Given the description of an element on the screen output the (x, y) to click on. 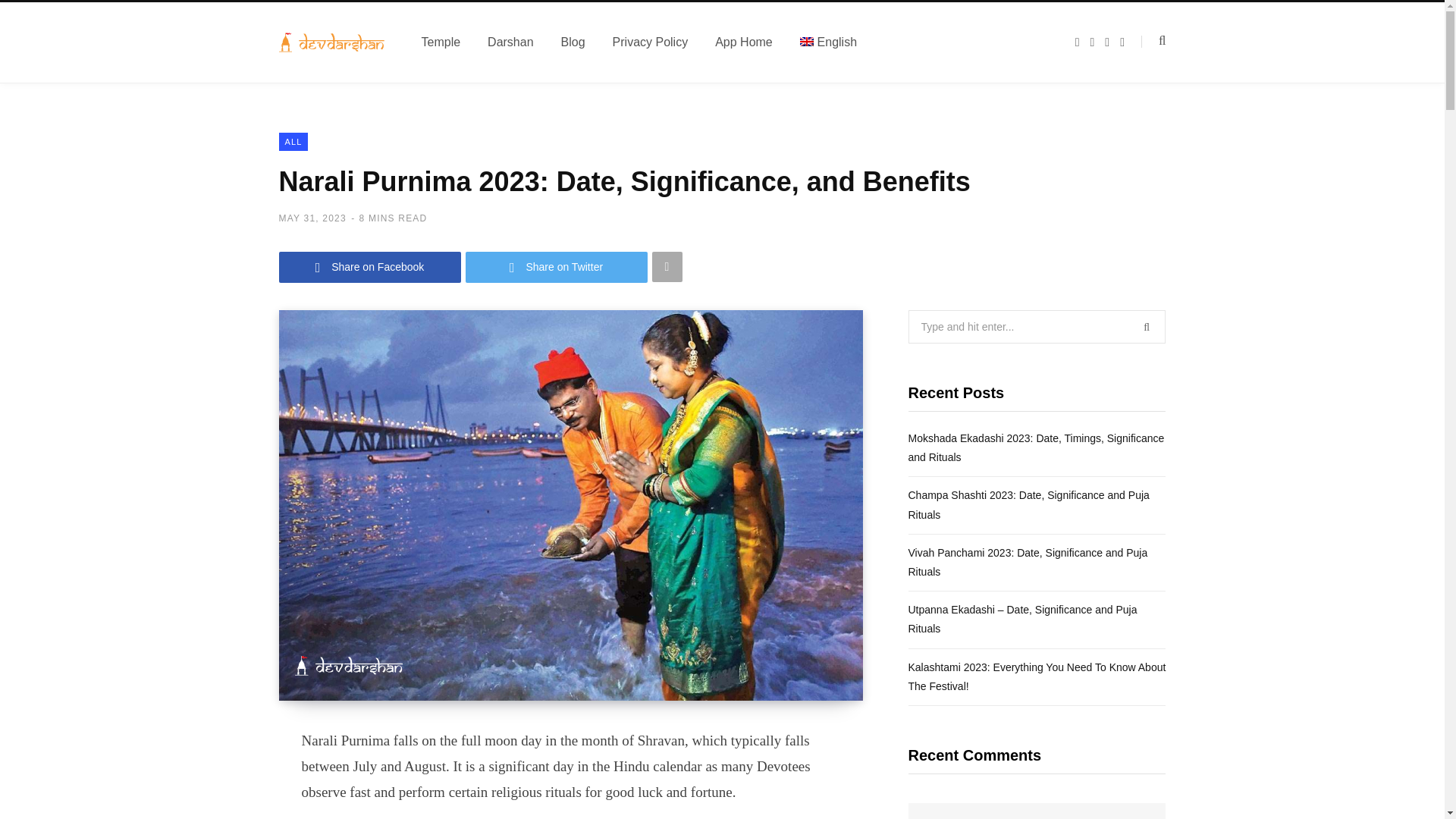
Search (1153, 41)
Share on Facebook (370, 266)
DevDarshan Blog (332, 42)
English (828, 41)
English (828, 41)
Privacy Policy (649, 41)
MAY 31, 2023 (312, 217)
Share on Twitter (556, 266)
Darshan (510, 41)
Blog (572, 41)
Share on Twitter (556, 266)
ALL (293, 141)
Temple (440, 41)
App Home (743, 41)
